Given the description of an element on the screen output the (x, y) to click on. 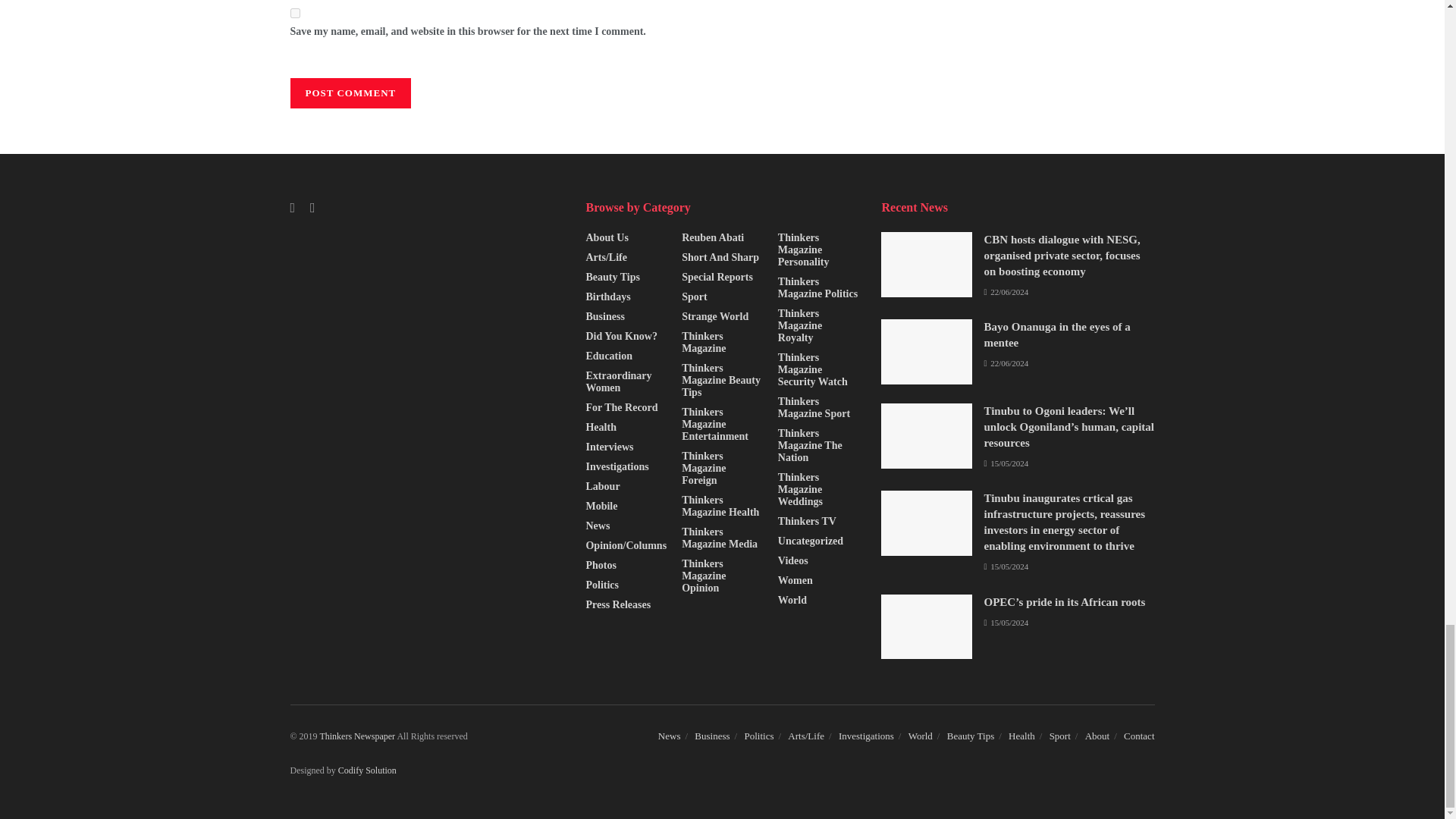
yes (294, 13)
Top News Site (357, 736)
Post Comment (349, 92)
